Given the description of an element on the screen output the (x, y) to click on. 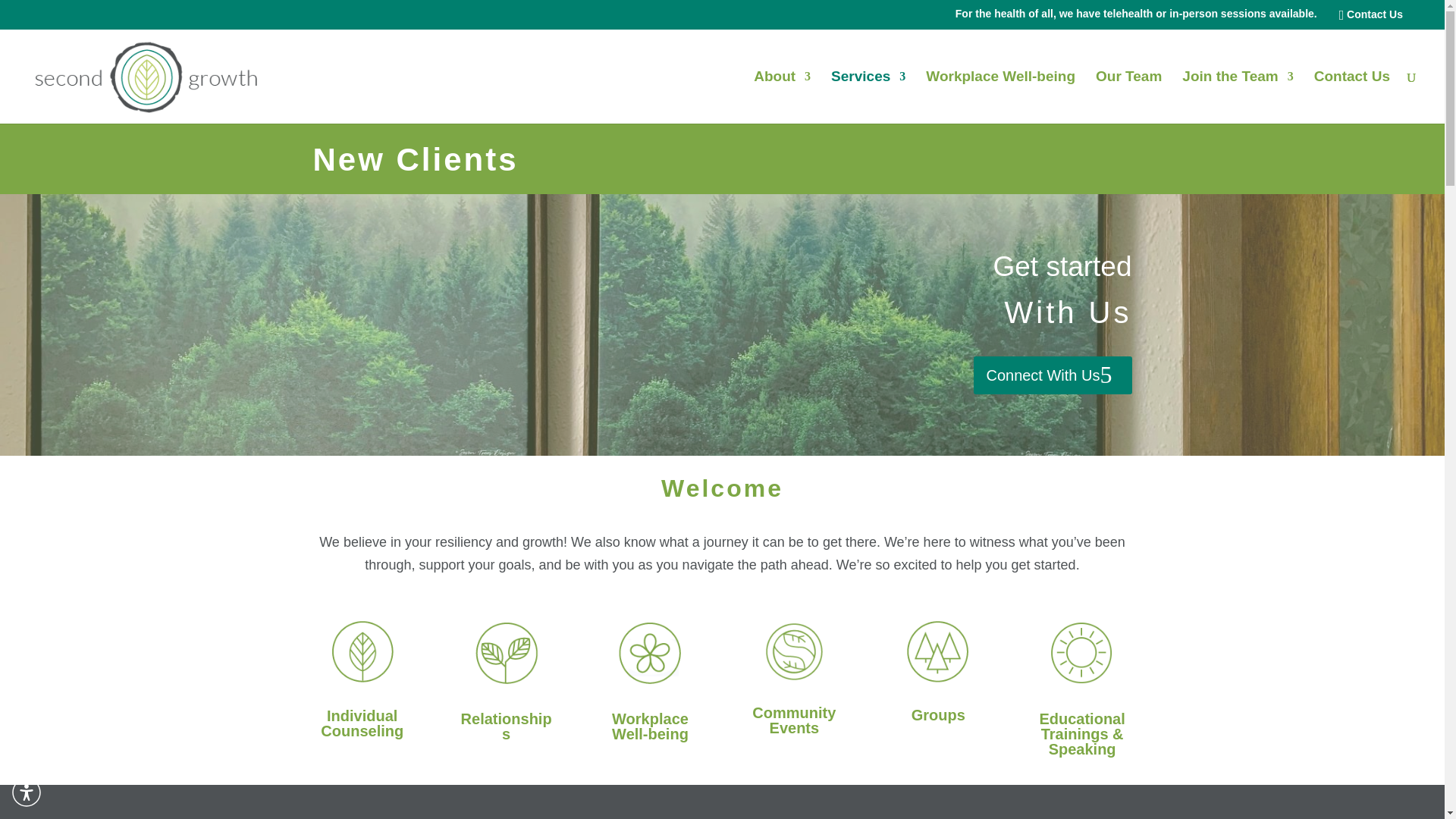
Our Team (1128, 97)
Connect With Us (1052, 374)
About (782, 97)
Join the Team (1237, 97)
Services (868, 97)
Contact Us (1352, 97)
Workplace Well-being (1000, 97)
